Given the description of an element on the screen output the (x, y) to click on. 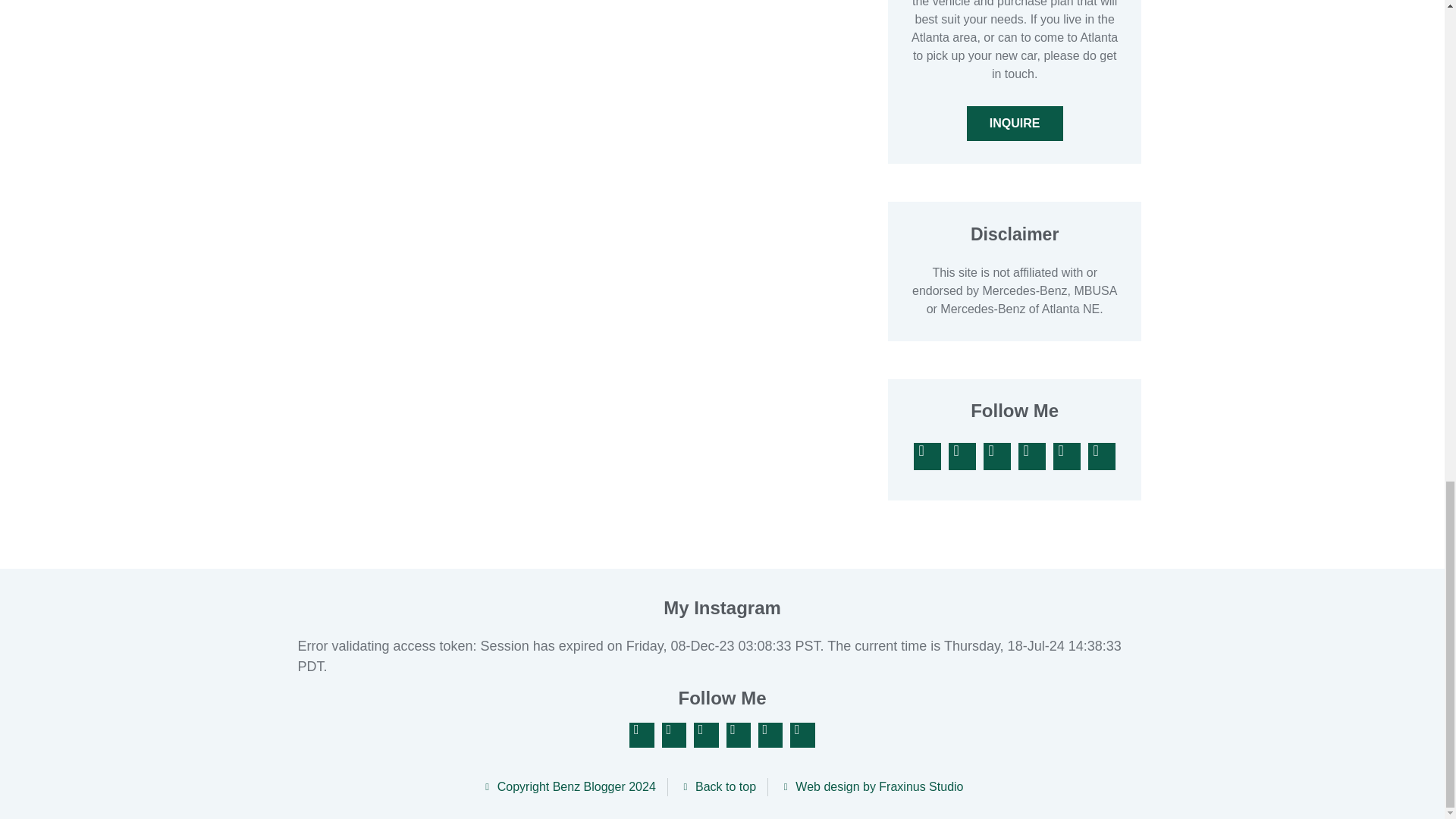
Web design by Fraxinus Studio (870, 787)
Copyright Benz Blogger 2024 (567, 787)
INQUIRE (1014, 123)
Back to top (717, 787)
